Given the description of an element on the screen output the (x, y) to click on. 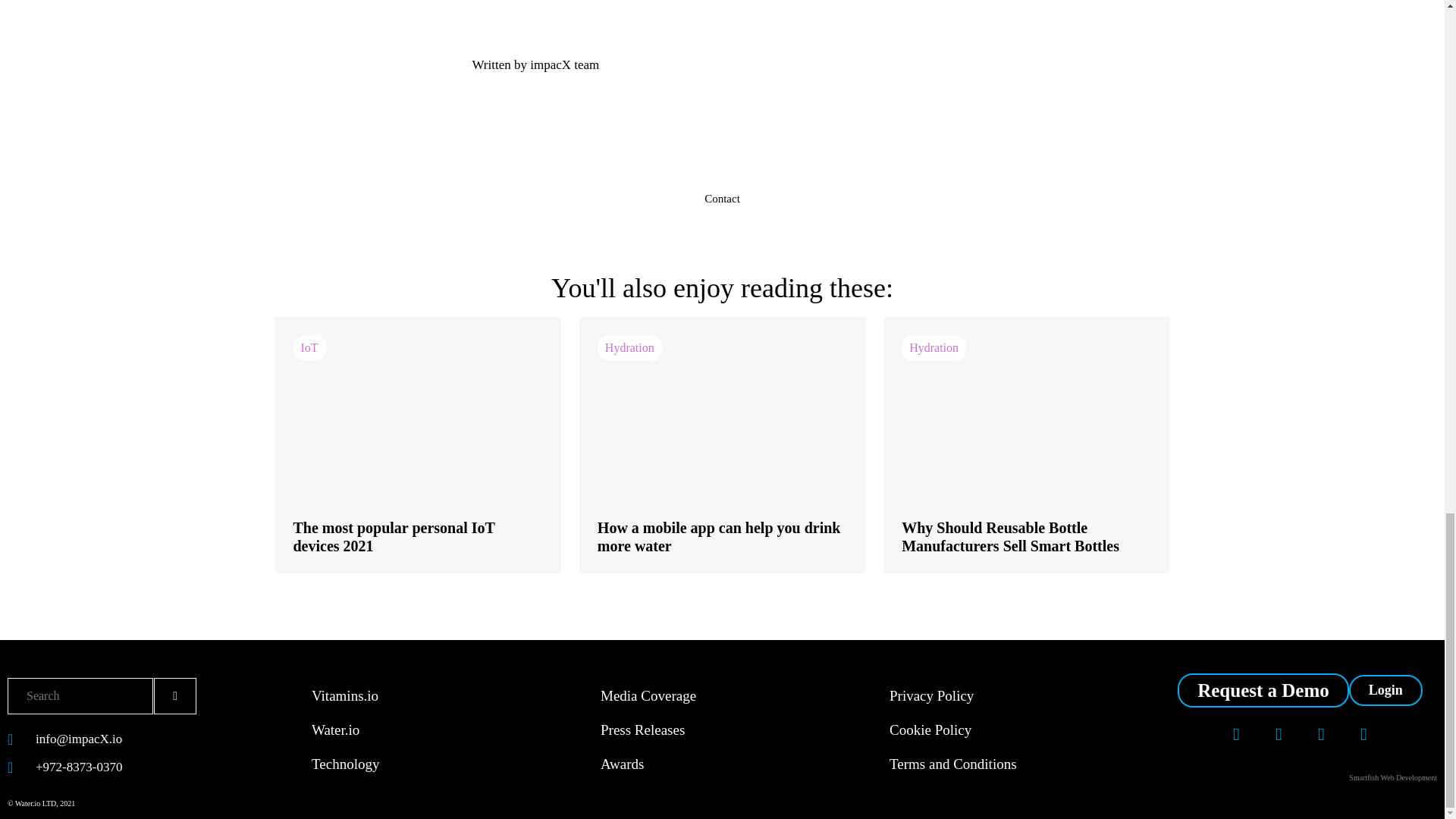
Search (79, 696)
